Given the description of an element on the screen output the (x, y) to click on. 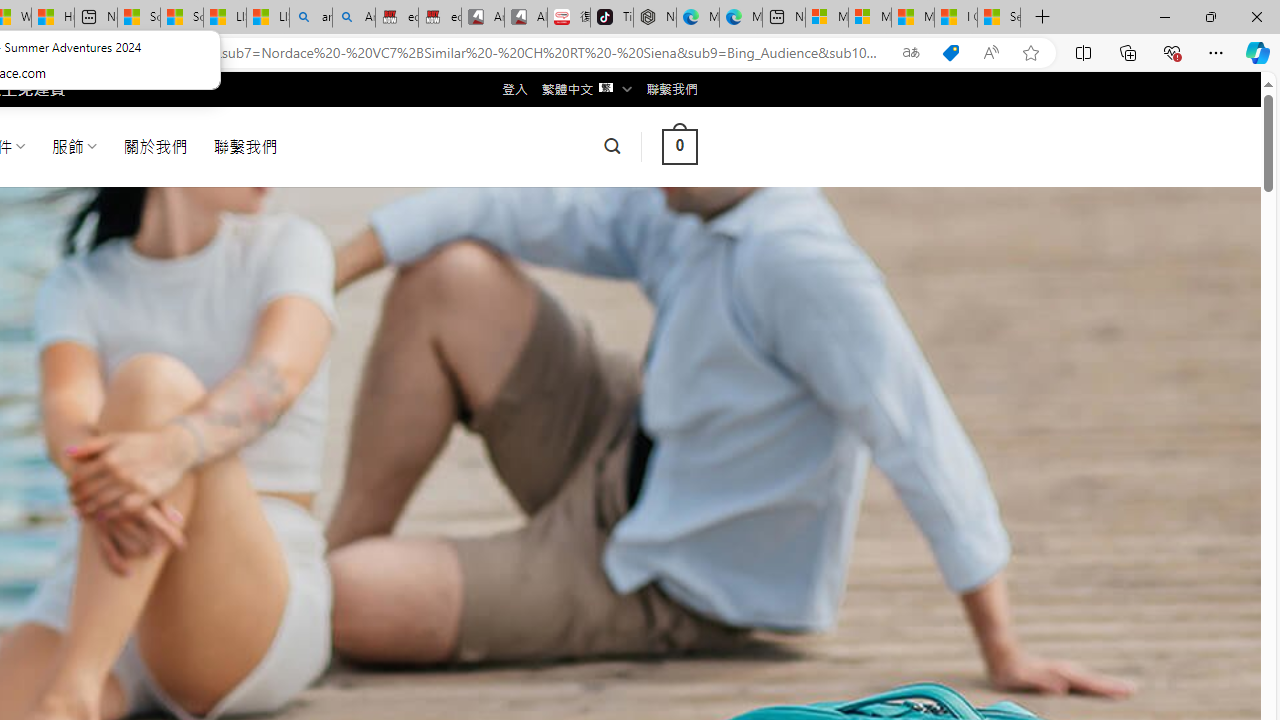
TikTok (612, 17)
